Given the description of an element on the screen output the (x, y) to click on. 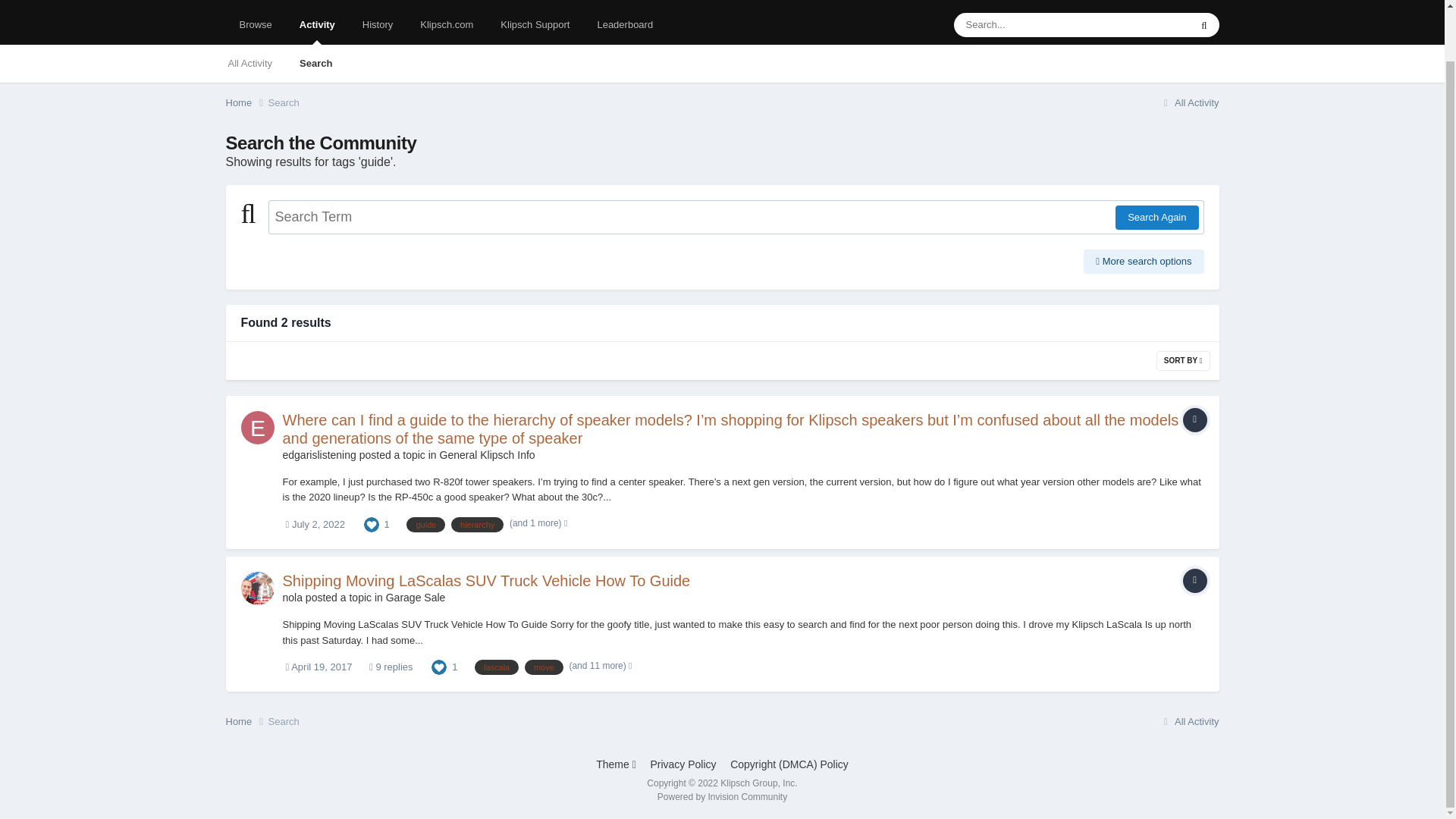
Klipsch.com (446, 24)
Find other content tagged with 'hierarchy' (477, 524)
Go to edgarislistening's profile (258, 427)
All Activity (1188, 102)
Home (246, 102)
Go to edgarislistening's profile (318, 454)
Find other content tagged with 'lascala' (496, 667)
More search options (1143, 261)
Find other content tagged with 'guide' (425, 524)
Search (315, 63)
Go to nola's profile (291, 597)
Search Again (1156, 217)
Go to nola's profile (258, 588)
Home (246, 102)
Like (438, 665)
